Given the description of an element on the screen output the (x, y) to click on. 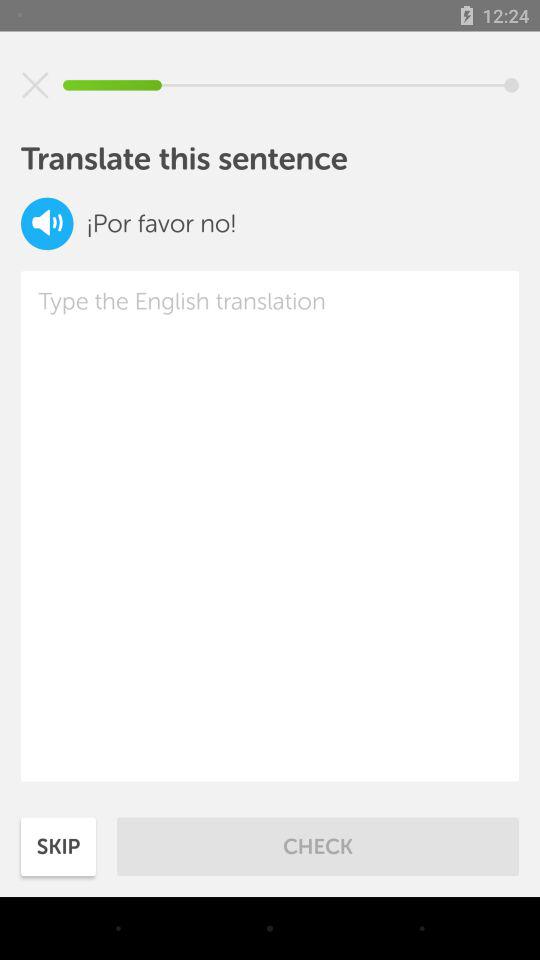
swipe to the check icon (318, 846)
